Given the description of an element on the screen output the (x, y) to click on. 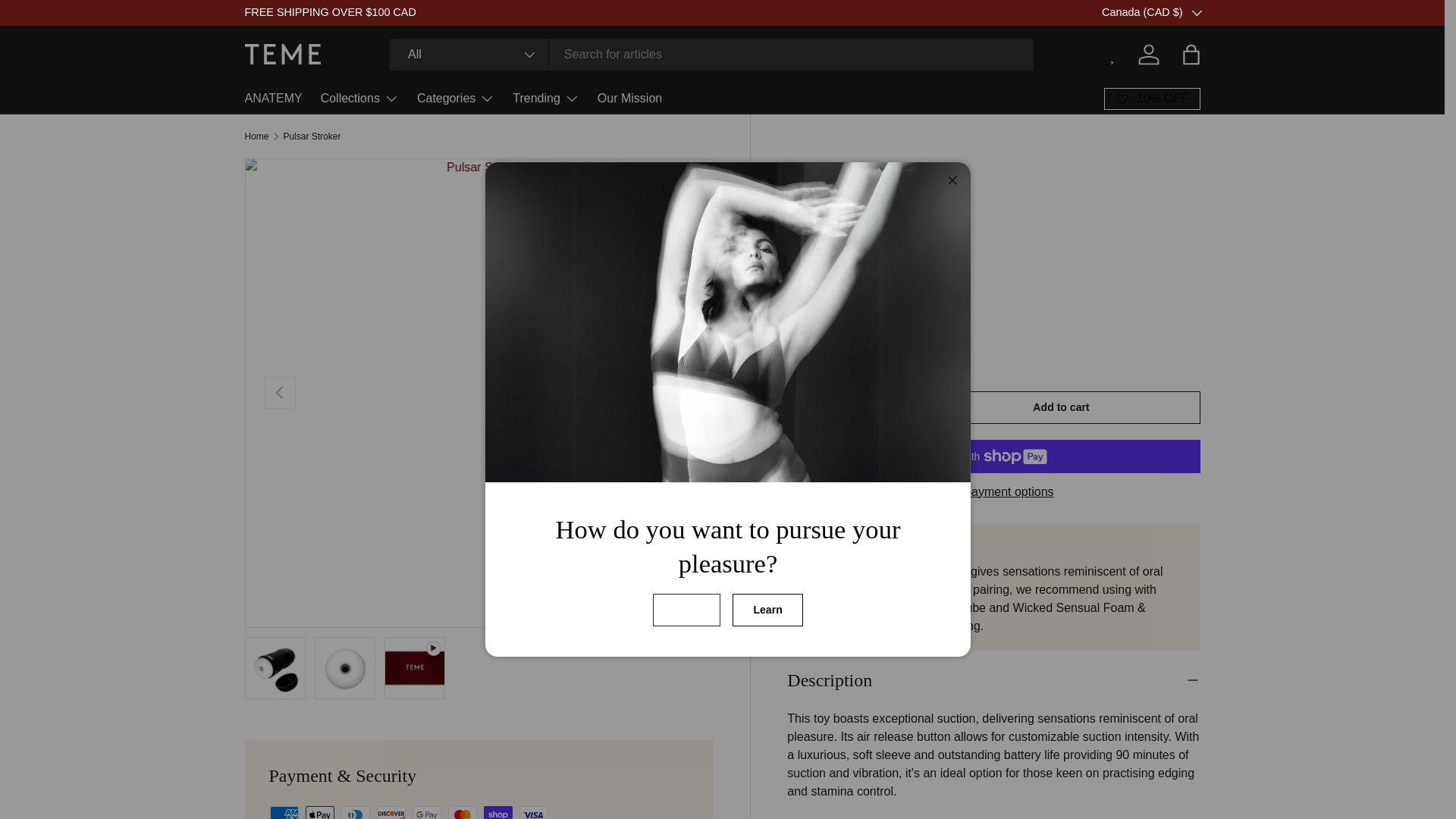
ANATEMY (272, 98)
Categories (455, 98)
Duties Credit (1223, 11)
All (469, 54)
Trending (545, 98)
Bag (1190, 54)
Log in (1147, 54)
Skip to content (68, 21)
Collections (359, 98)
LEARN MORE (1223, 11)
1 (848, 409)
